Given the description of an element on the screen output the (x, y) to click on. 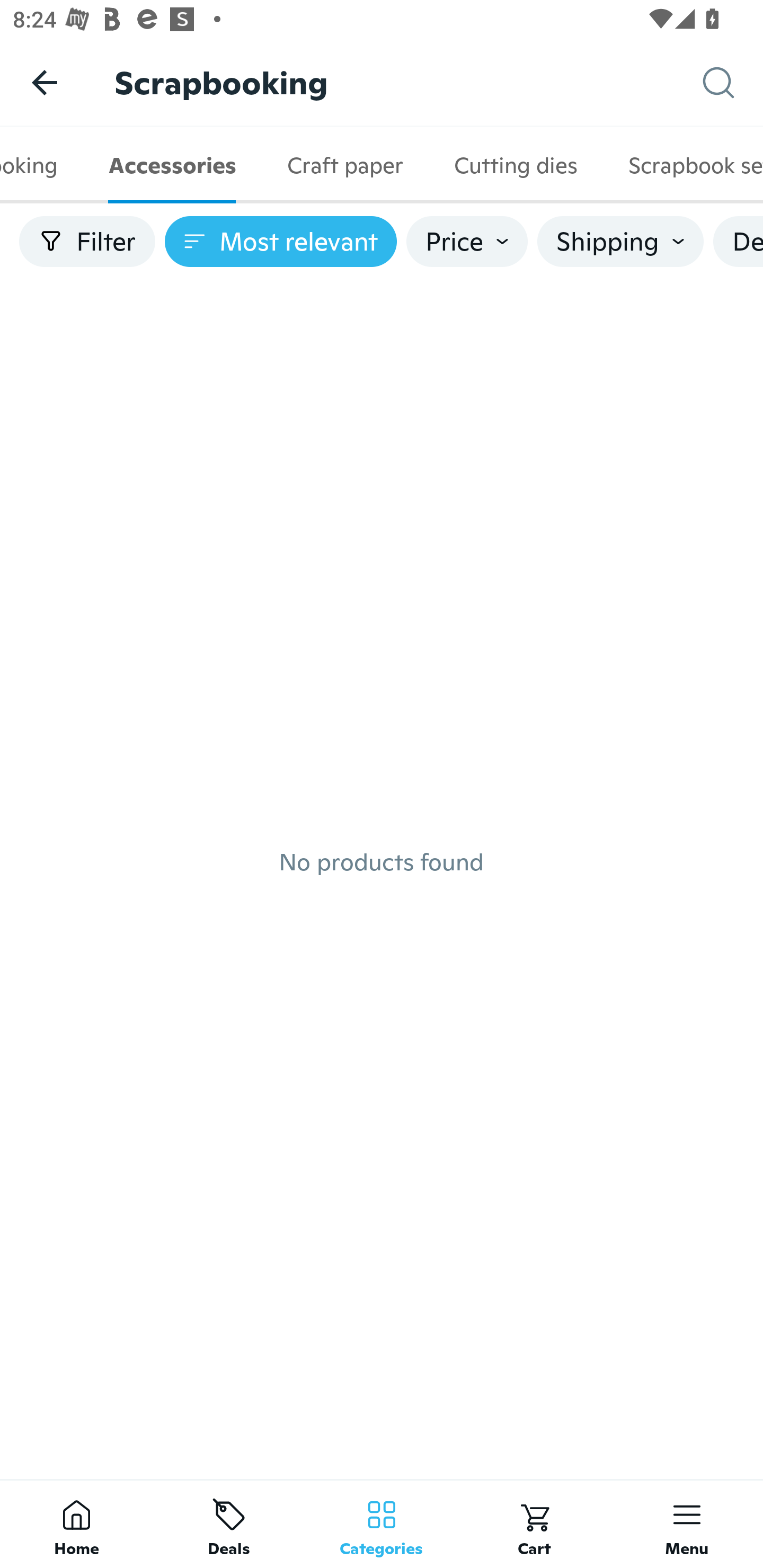
Navigate up (44, 82)
Search (732, 82)
Accessories (171, 165)
Craft paper (344, 165)
Cutting dies (515, 165)
Filter (86, 241)
Most relevant (280, 241)
Price (466, 241)
Shipping (620, 241)
Home (76, 1523)
Deals (228, 1523)
Categories (381, 1523)
Cart (533, 1523)
Menu (686, 1523)
